Given the description of an element on the screen output the (x, y) to click on. 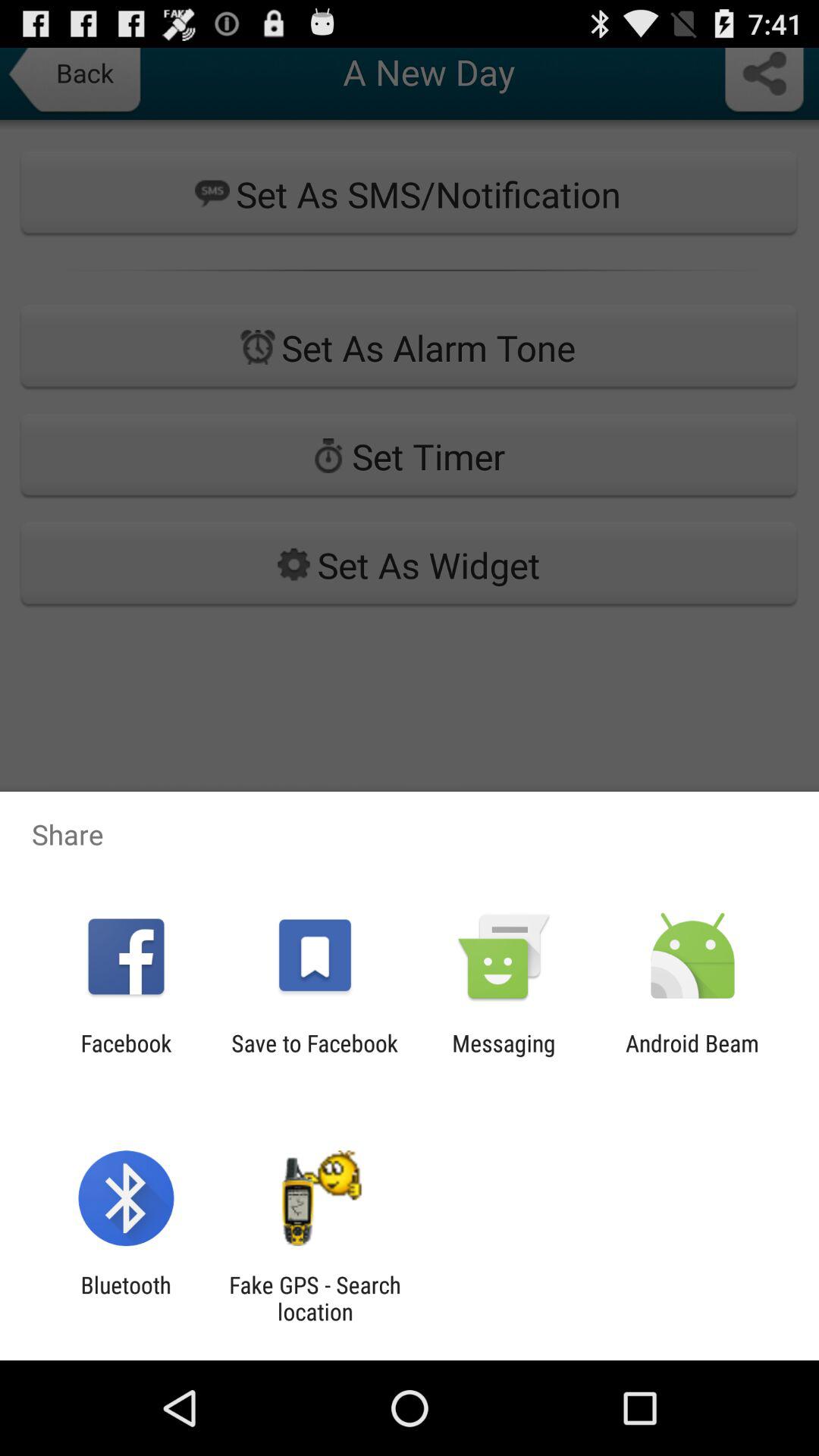
jump to android beam app (692, 1056)
